Given the description of an element on the screen output the (x, y) to click on. 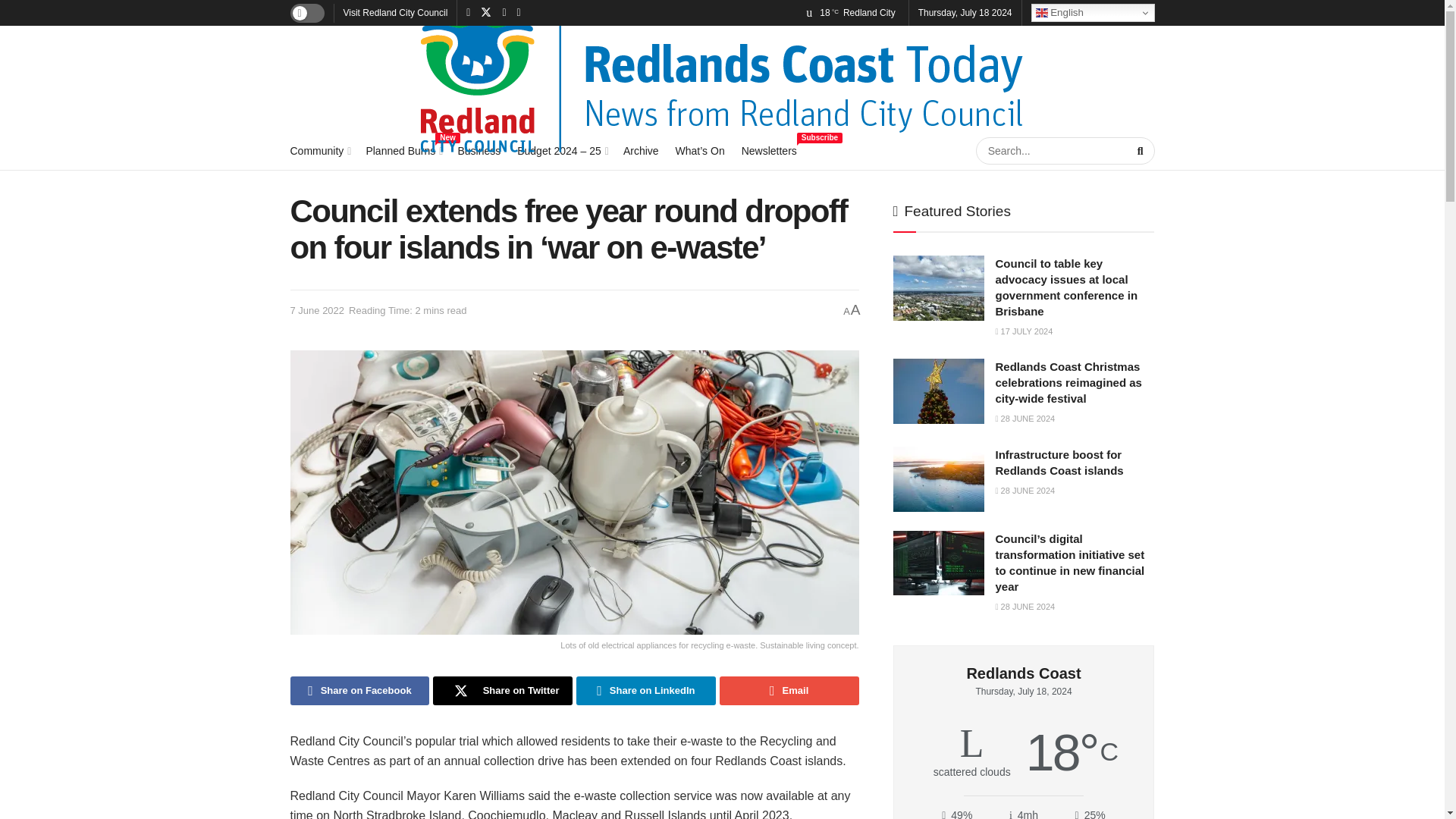
Visit Redland City Council (394, 12)
English (1092, 13)
Business (403, 150)
Community (478, 150)
Archive (319, 150)
